Given the description of an element on the screen output the (x, y) to click on. 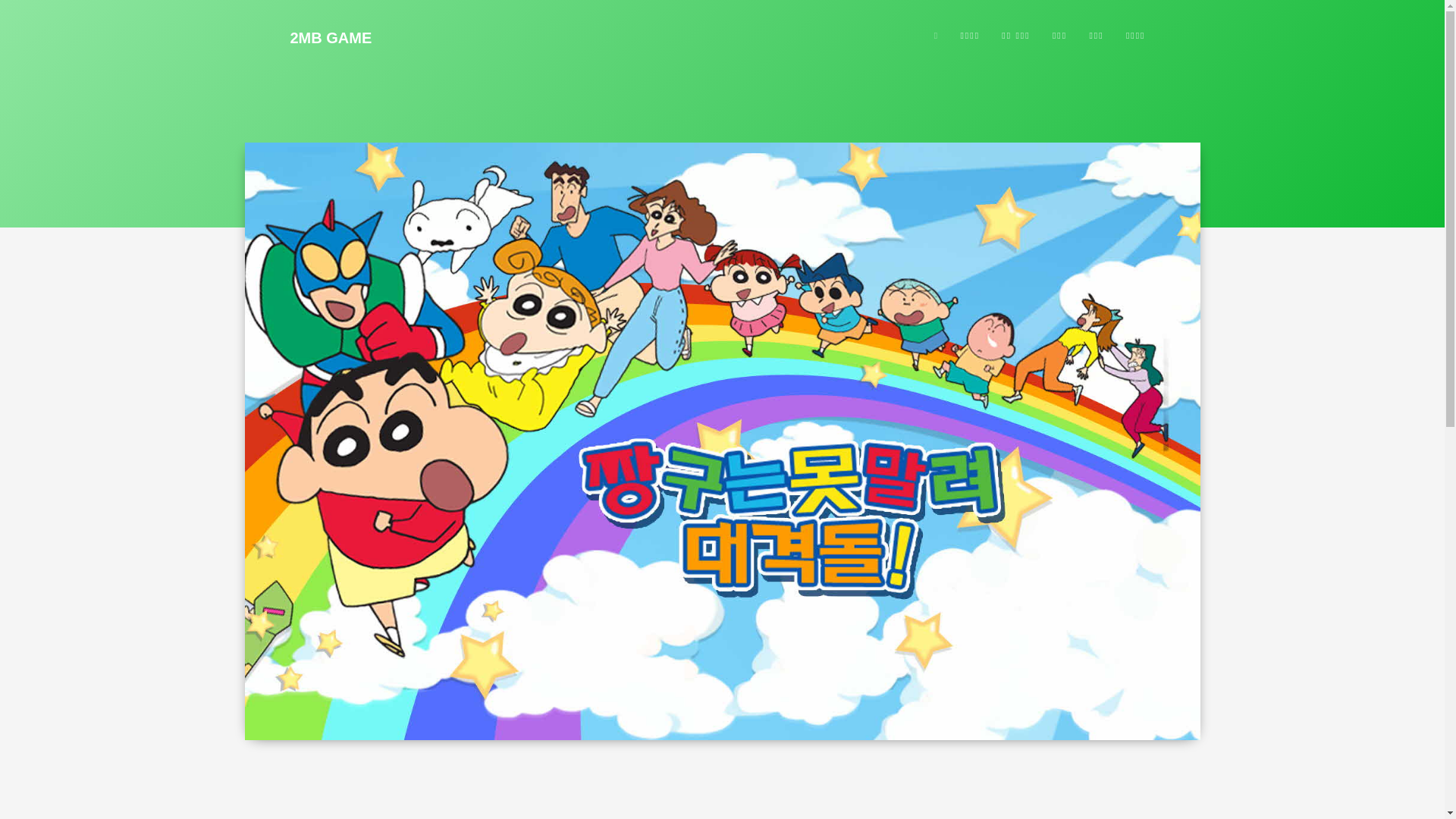
2MB GAME Element type: text (330, 37)
